Given the description of an element on the screen output the (x, y) to click on. 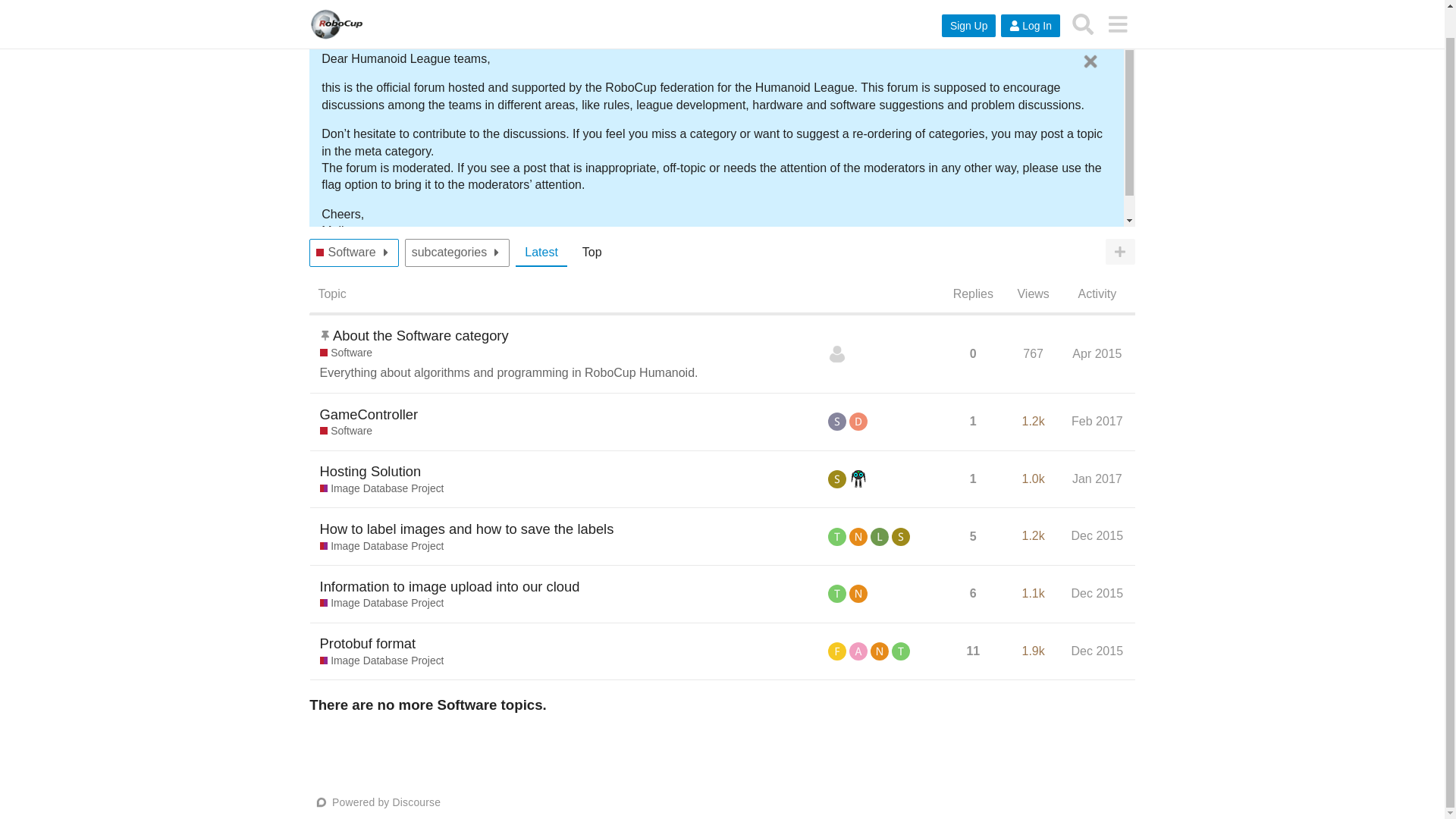
Image Database Project (382, 488)
About the Software category (420, 335)
Apr 2015 (1096, 353)
New Topic (1120, 251)
How to label images and how to save the labels (467, 528)
Sign Up (968, 4)
Software (345, 252)
the most active topics in the last year, month, week or day (592, 252)
menu (1117, 6)
